Given the description of an element on the screen output the (x, y) to click on. 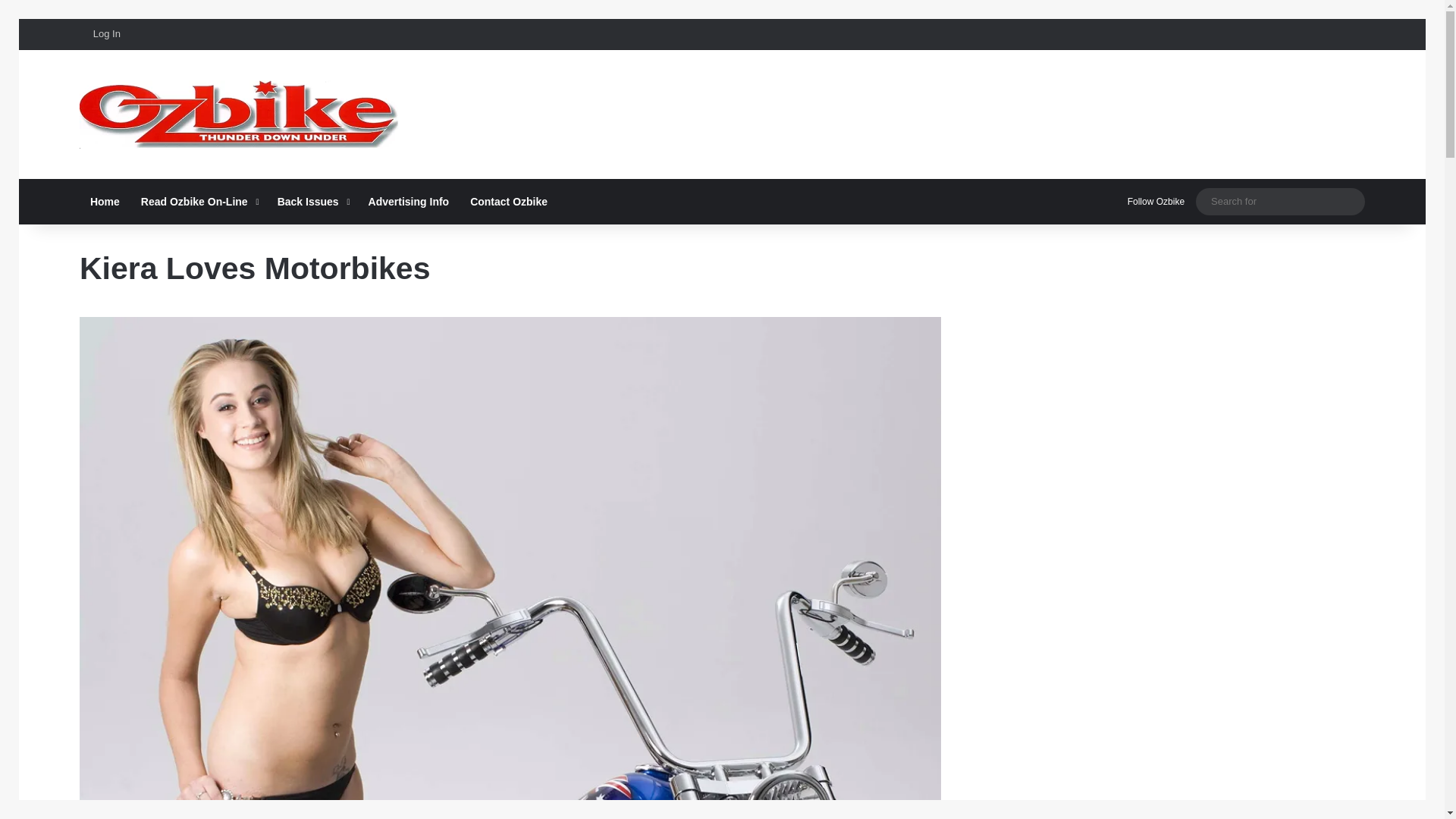
Search for (1350, 201)
Home (105, 201)
Ozbike Digital Magazine (239, 114)
Contact Ozbike (508, 201)
Follow Ozbike (1152, 201)
Back Issues (312, 201)
Read Ozbike On-Line (198, 201)
Search for (1280, 200)
Advertising Info (409, 201)
